Given the description of an element on the screen output the (x, y) to click on. 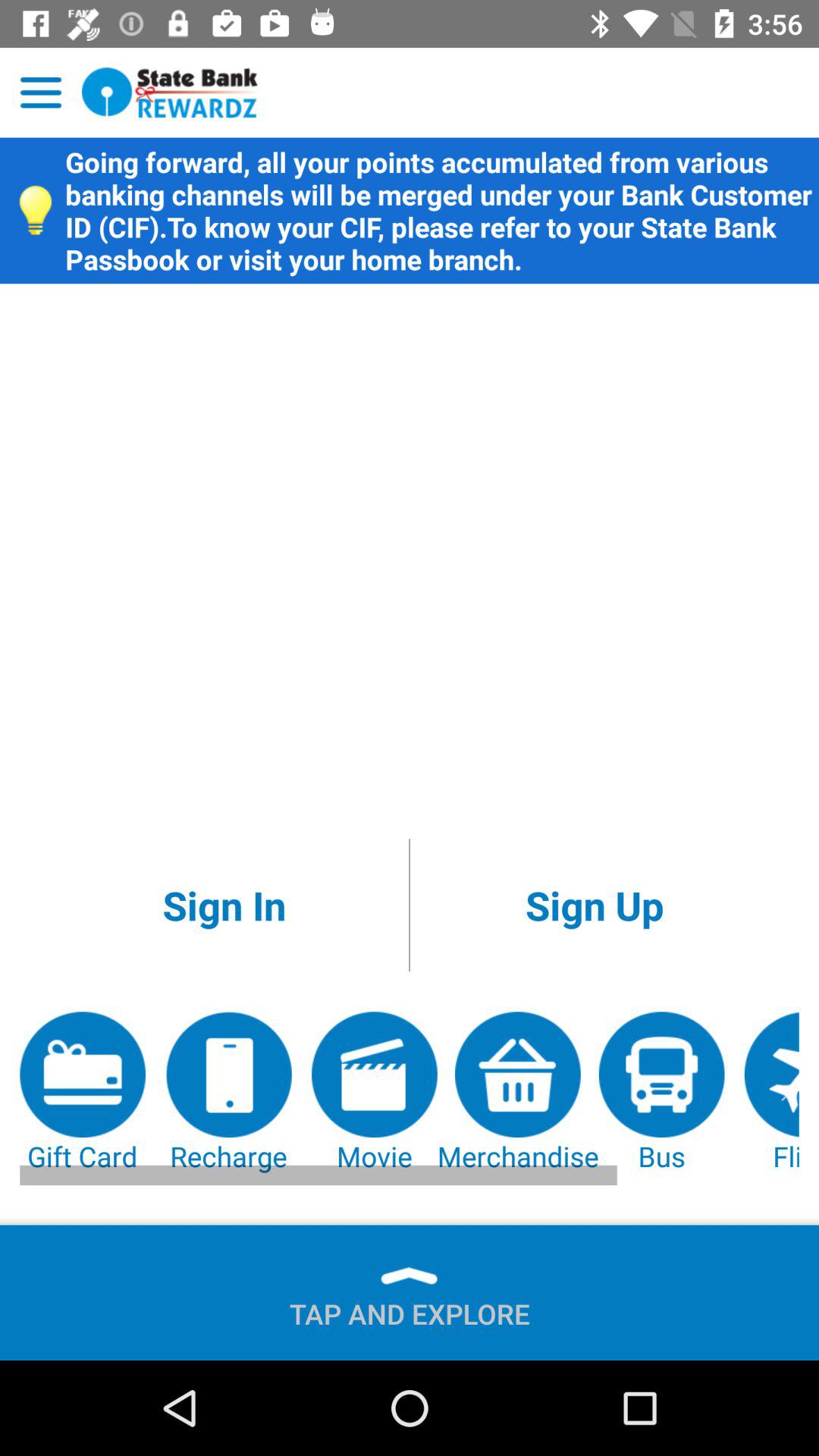
turn off the item below the going forward all app (594, 904)
